Given the description of an element on the screen output the (x, y) to click on. 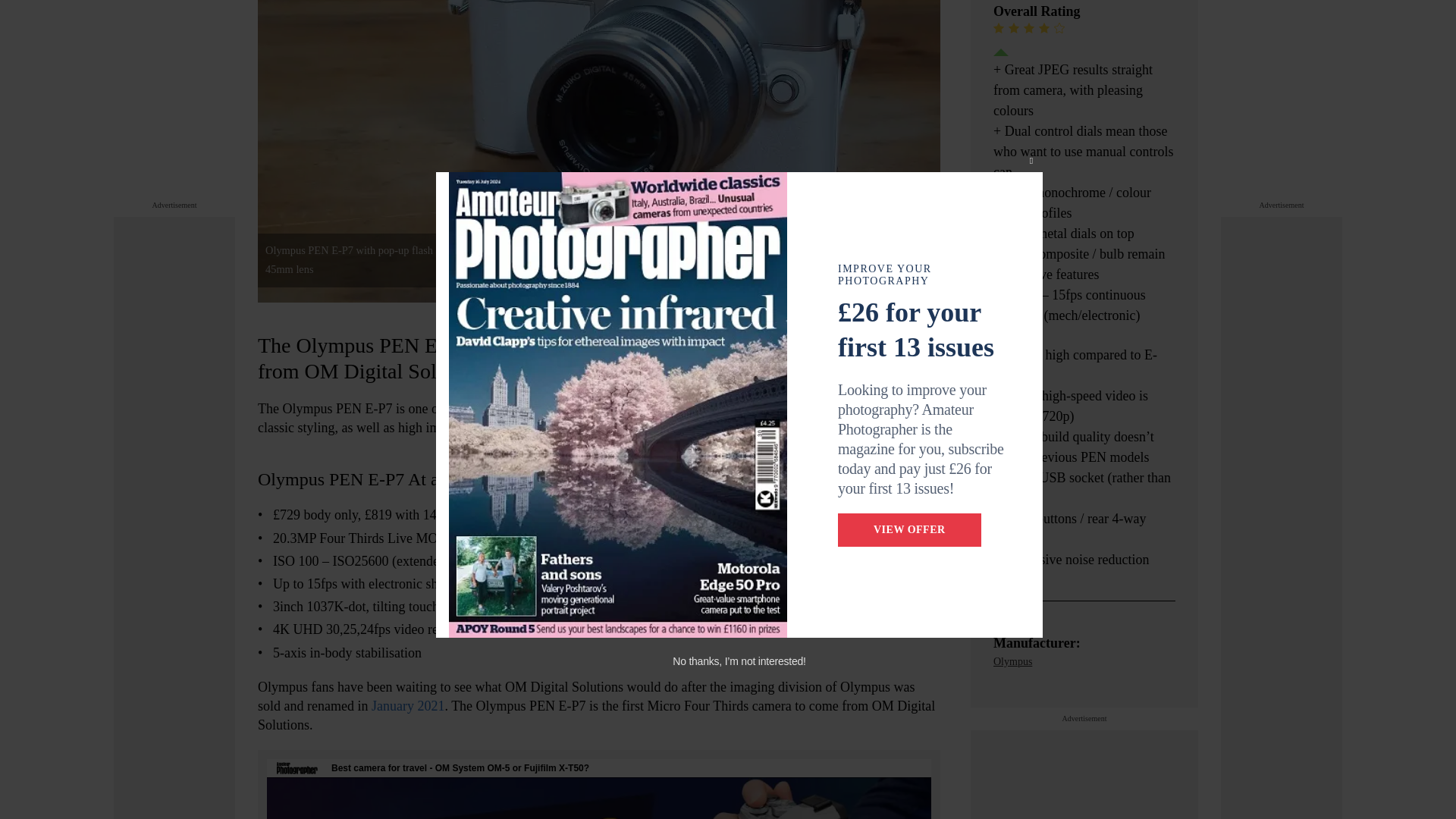
advertisement (1280, 2)
advertisement (173, 2)
